Given the description of an element on the screen output the (x, y) to click on. 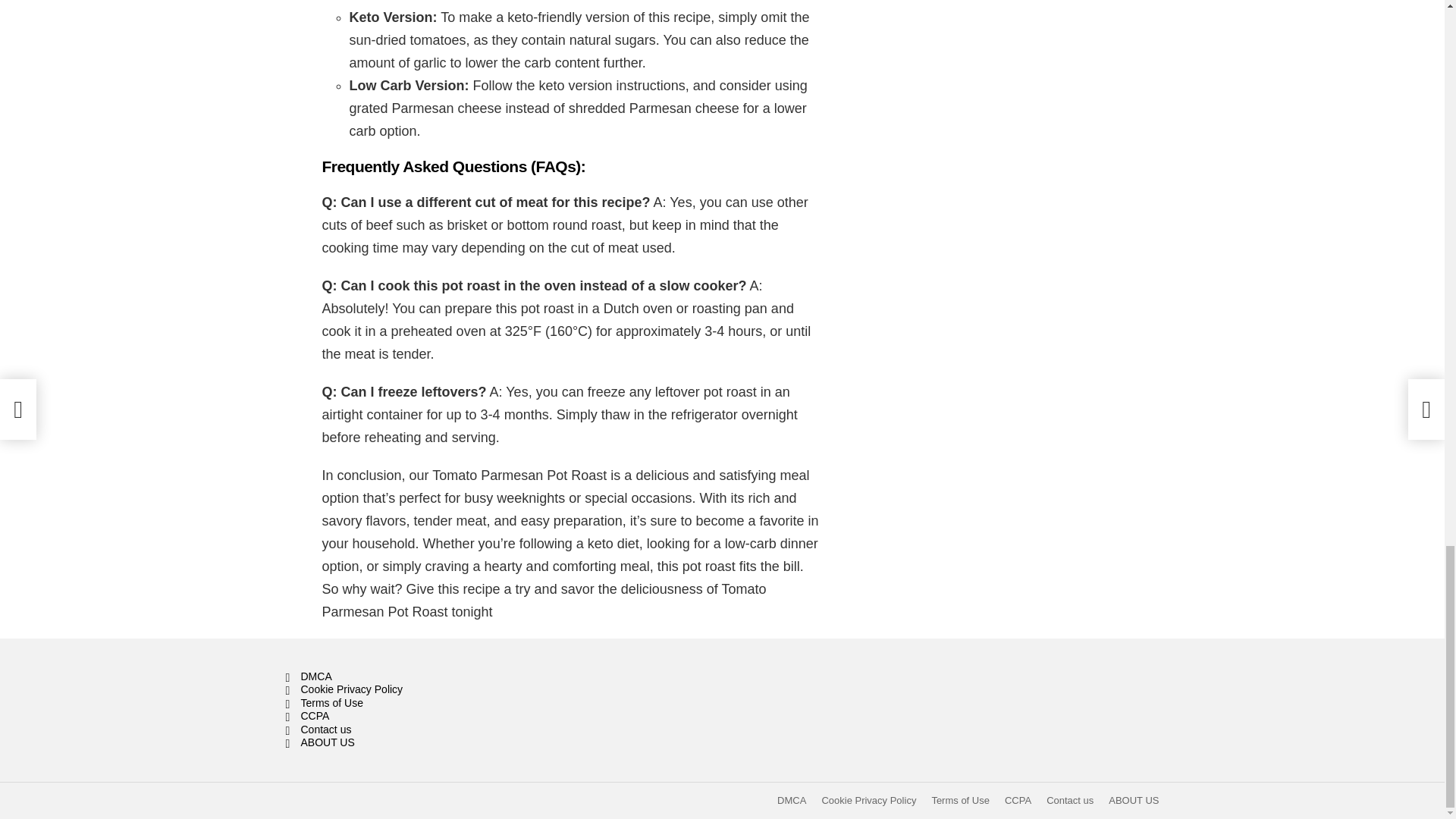
Cookie Privacy Policy (868, 800)
Cookie Privacy Policy (422, 689)
ABOUT US (422, 743)
Terms of Use (422, 703)
Contact us (422, 730)
Contact us (1069, 800)
CCPA (1018, 800)
DMCA (791, 800)
CCPA (422, 716)
ABOUT US (1133, 800)
Terms of Use (960, 800)
DMCA (422, 676)
